Given the description of an element on the screen output the (x, y) to click on. 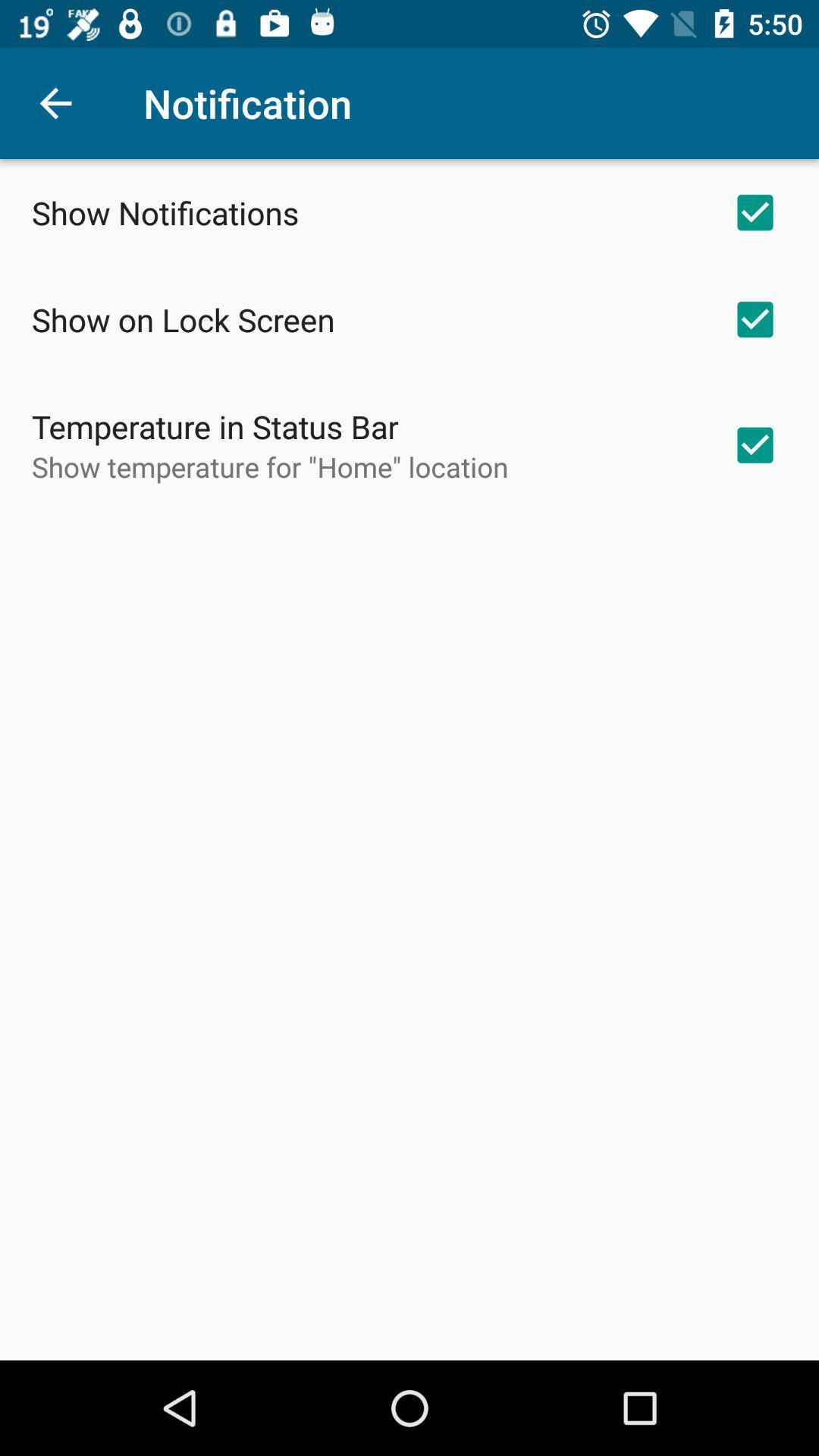
press icon next to the notification item (55, 103)
